Given the description of an element on the screen output the (x, y) to click on. 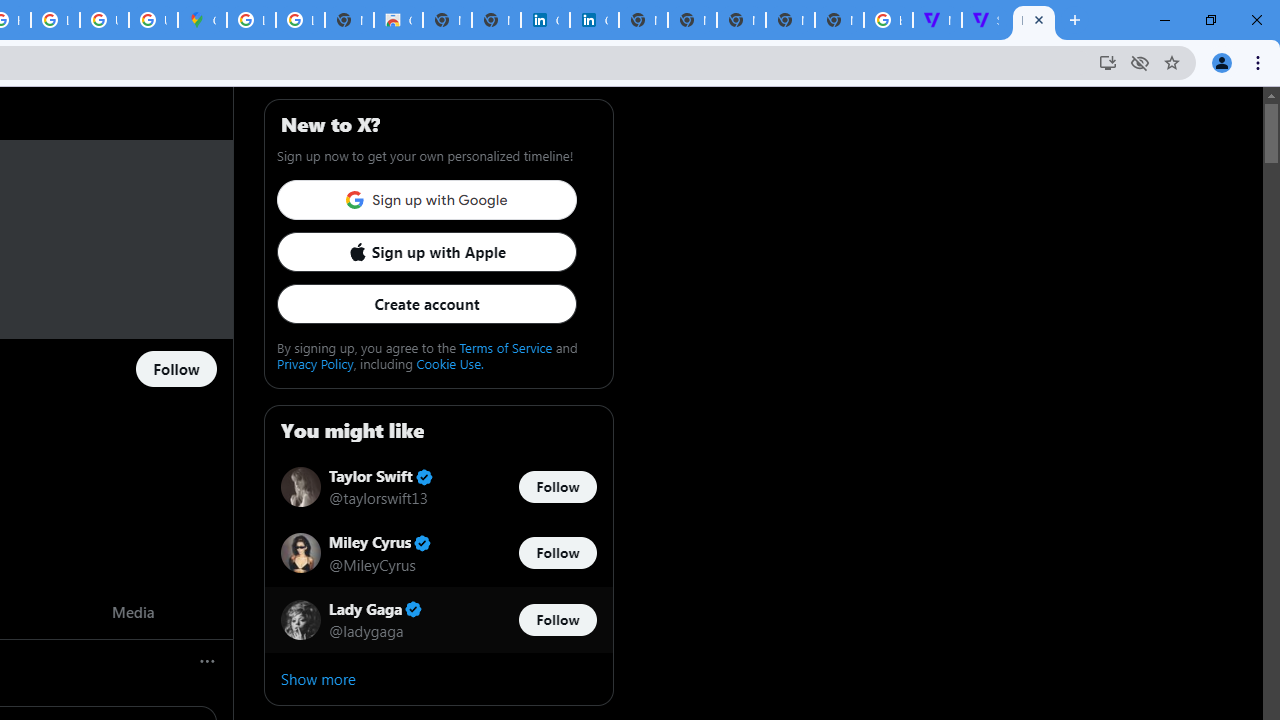
Google Maps (201, 20)
Miley Cyrus Verified account (380, 543)
Lady Gaga Verified account @ladygaga Follow @ladygaga (438, 619)
Chrome (1260, 62)
Next (211, 612)
Sign up with Google (426, 200)
Cookie Policy | LinkedIn (545, 20)
Taylor Swift Verified account (380, 476)
Follow @taylorswift13 (557, 486)
Cookie Policy | LinkedIn (594, 20)
